Given the description of an element on the screen output the (x, y) to click on. 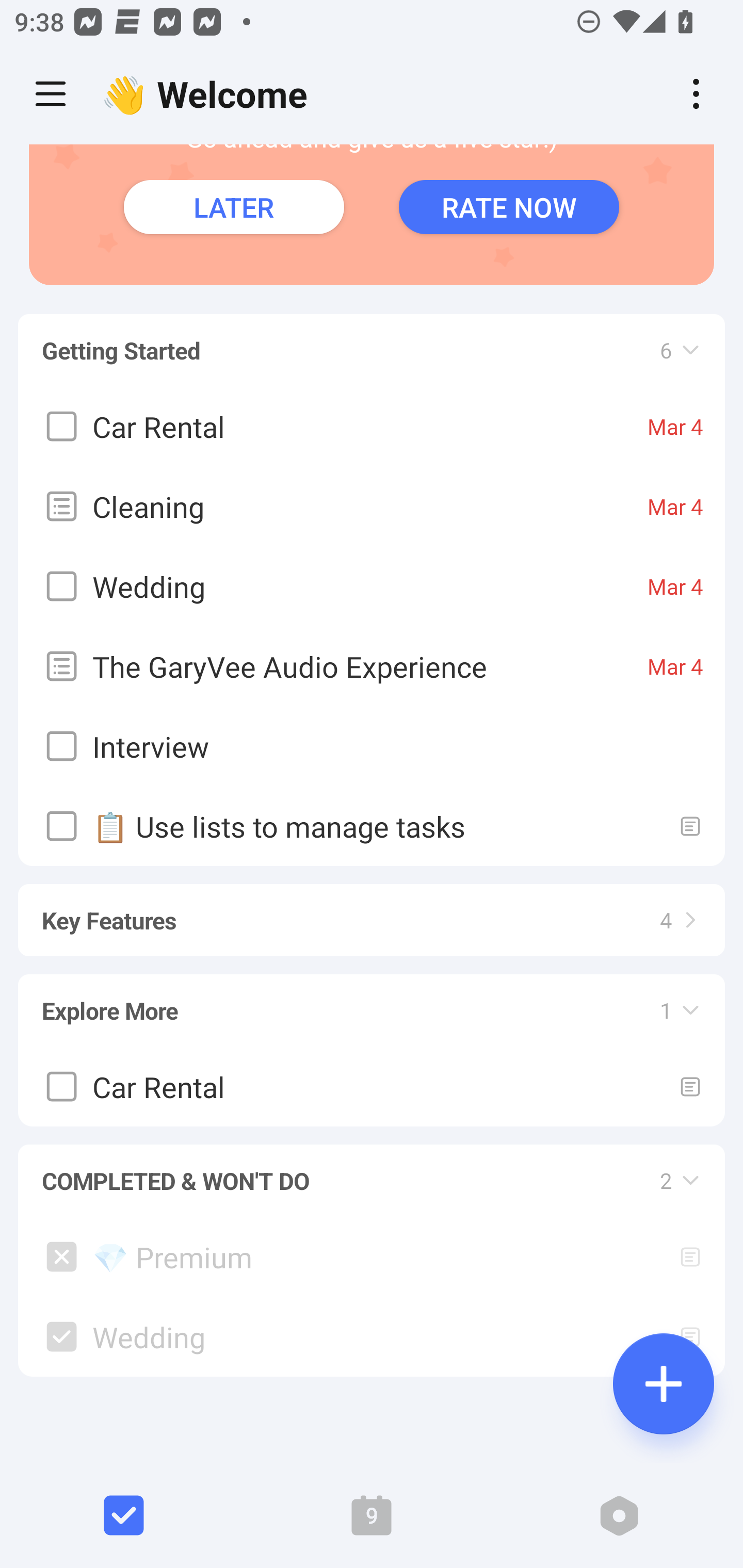
👋 Welcome (209, 93)
LATER (234, 206)
RATE NOW (508, 206)
Getting Started 6 (371, 340)
Car Rental Mar 4 (371, 425)
Mar 4 (675, 425)
Cleaning Mar 4 (371, 505)
Mar 4 (675, 505)
Wedding Mar 4 (371, 585)
Mar 4 (675, 585)
The GaryVee Audio Experience Mar 4 (371, 665)
Mar 4 (675, 665)
Interview (371, 745)
📋 Use lists to manage tasks (371, 825)
Key Features 4 (371, 910)
Explore More 1 (371, 1000)
Car Rental (371, 1085)
COMPLETED & WON'T DO 2 (371, 1170)
💎 Premium (371, 1256)
Wedding (371, 1336)
